Given the description of an element on the screen output the (x, y) to click on. 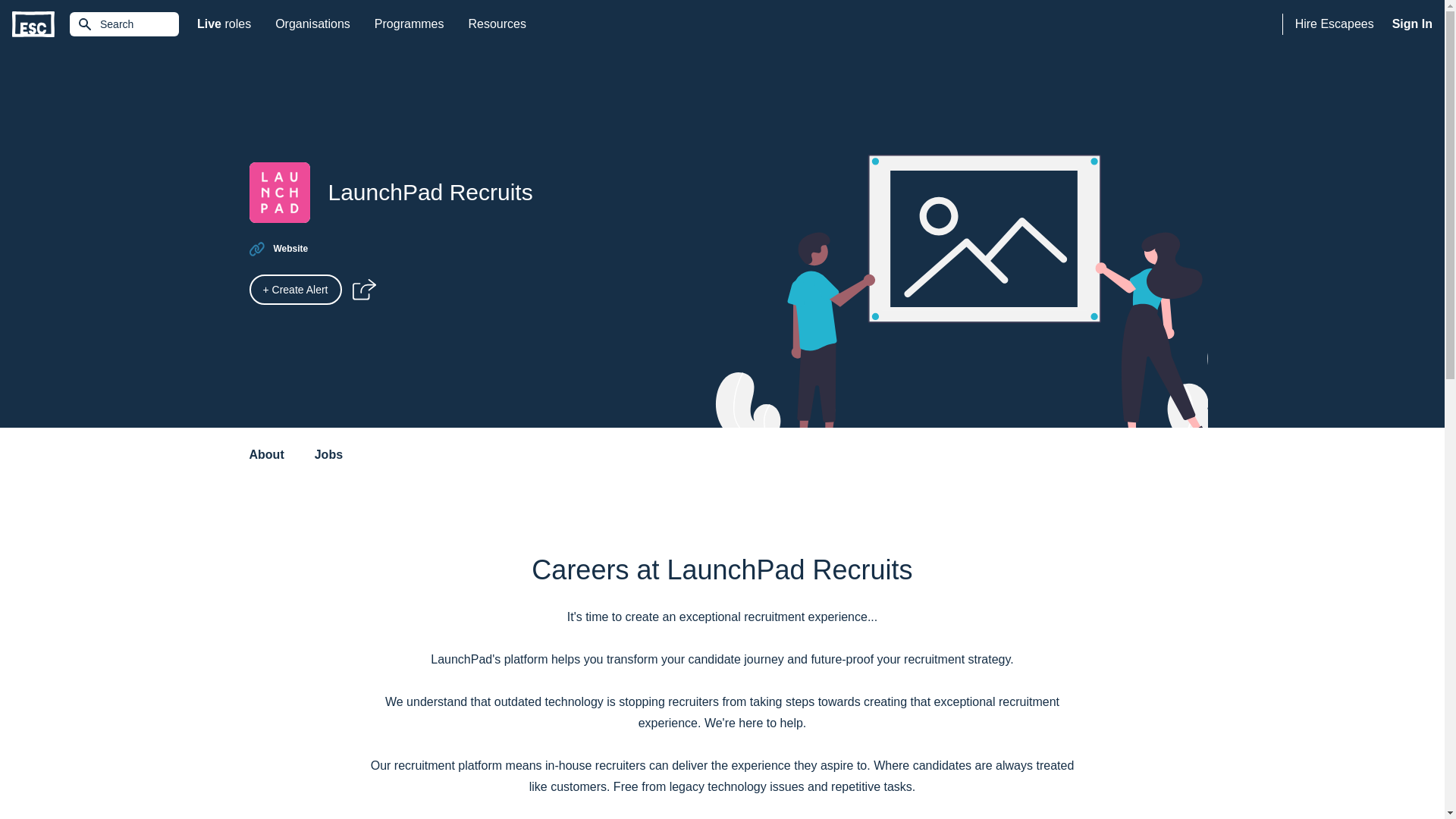
Resources (496, 24)
Organisations (312, 24)
Programmes (409, 24)
Escape the City (33, 24)
Search (223, 24)
Website (124, 24)
Sign In (290, 248)
Hire Escapees (1411, 24)
